Given the description of an element on the screen output the (x, y) to click on. 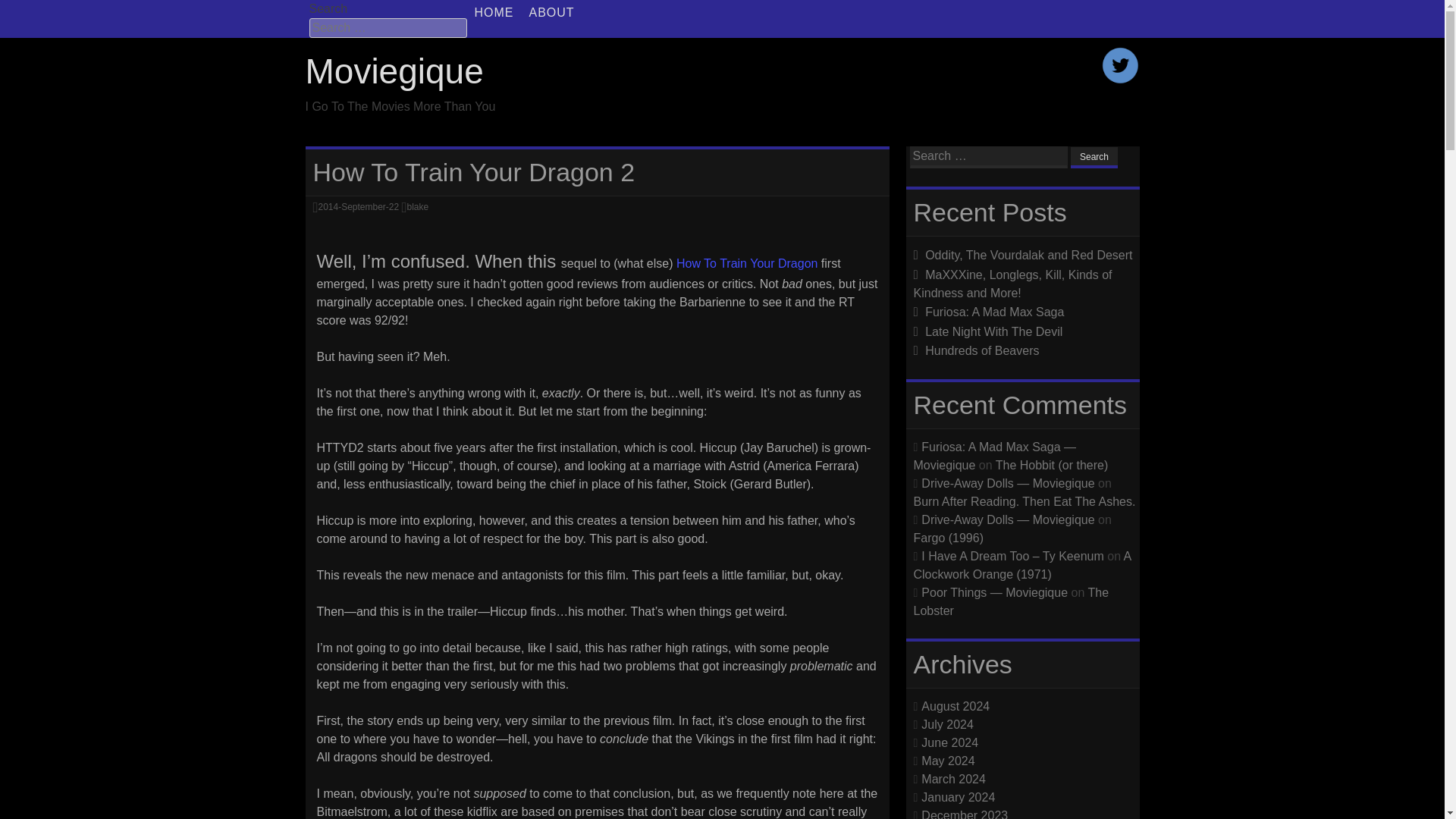
MaXXXine, Longlegs, Kill, Kinds of Kindness and More! (1012, 284)
Search for: (988, 157)
Burn After Reading. Then Eat The Ashes. (1023, 500)
Search for: (387, 27)
June 2024 (949, 741)
How To Train Your Dragon (746, 263)
Oddity, The Vourdalak and Red Desert (1028, 254)
1:15 am (357, 206)
August 2024 (955, 705)
Moviegique (393, 70)
